Given the description of an element on the screen output the (x, y) to click on. 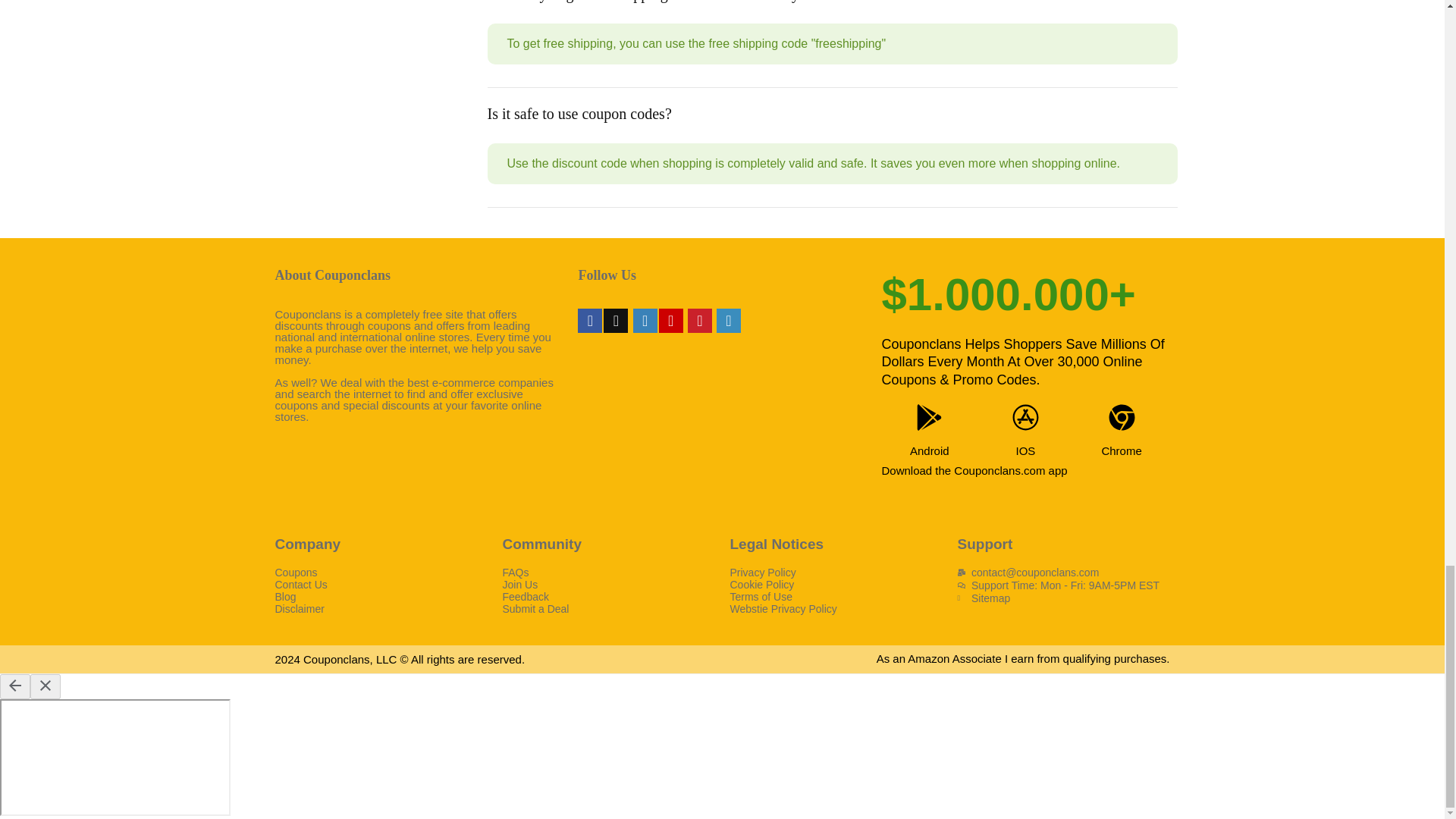
Youtube (670, 320)
Pinterest (699, 320)
twitter (615, 320)
Facebook (590, 320)
Instagramm (645, 320)
Linkedin (728, 320)
